Given the description of an element on the screen output the (x, y) to click on. 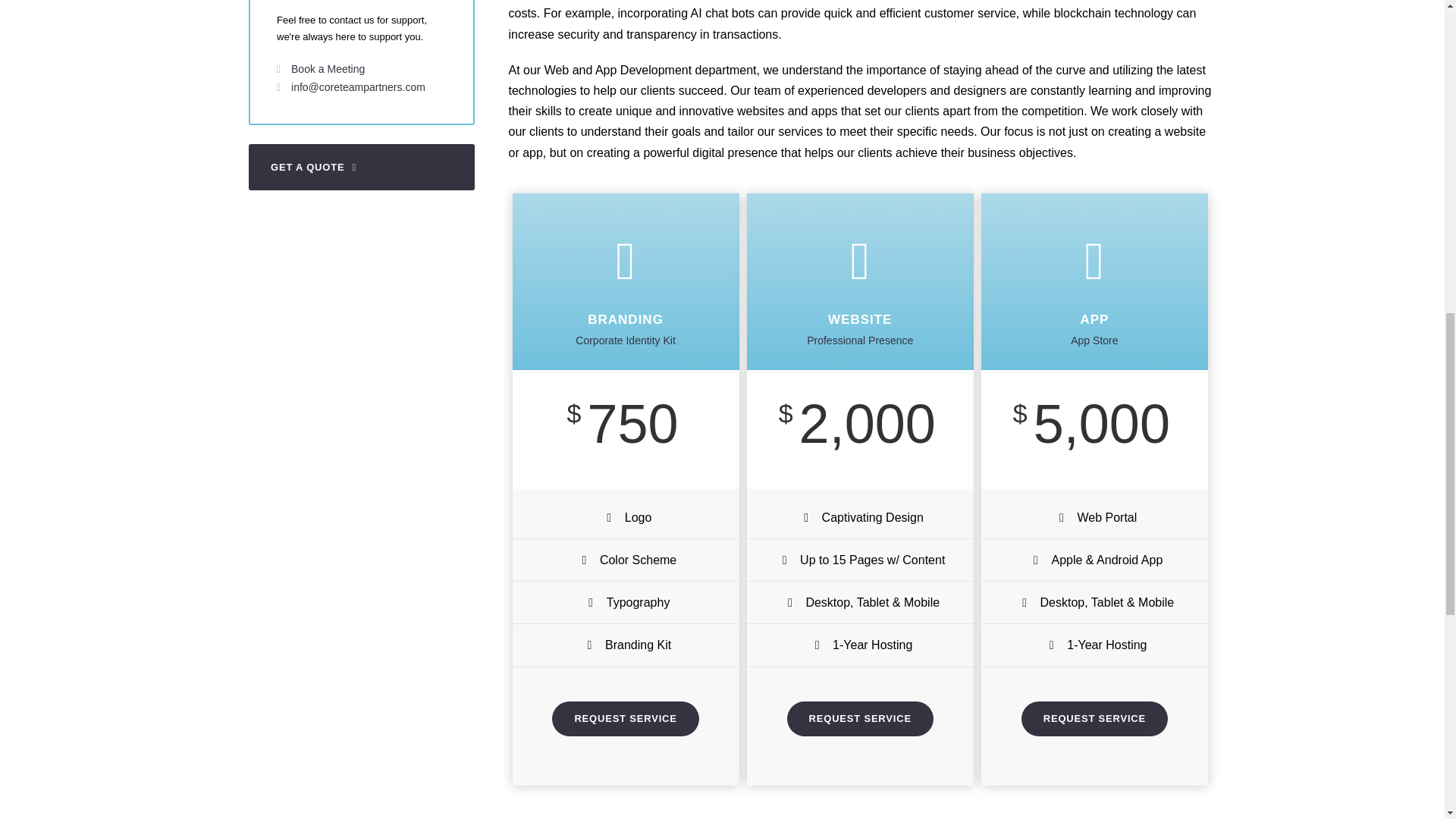
REQUEST SERVICE (1094, 718)
REQUEST SERVICE (624, 718)
Book a Meeting (328, 69)
REQUEST SERVICE (860, 718)
GET A QUOTE (361, 167)
